Given the description of an element on the screen output the (x, y) to click on. 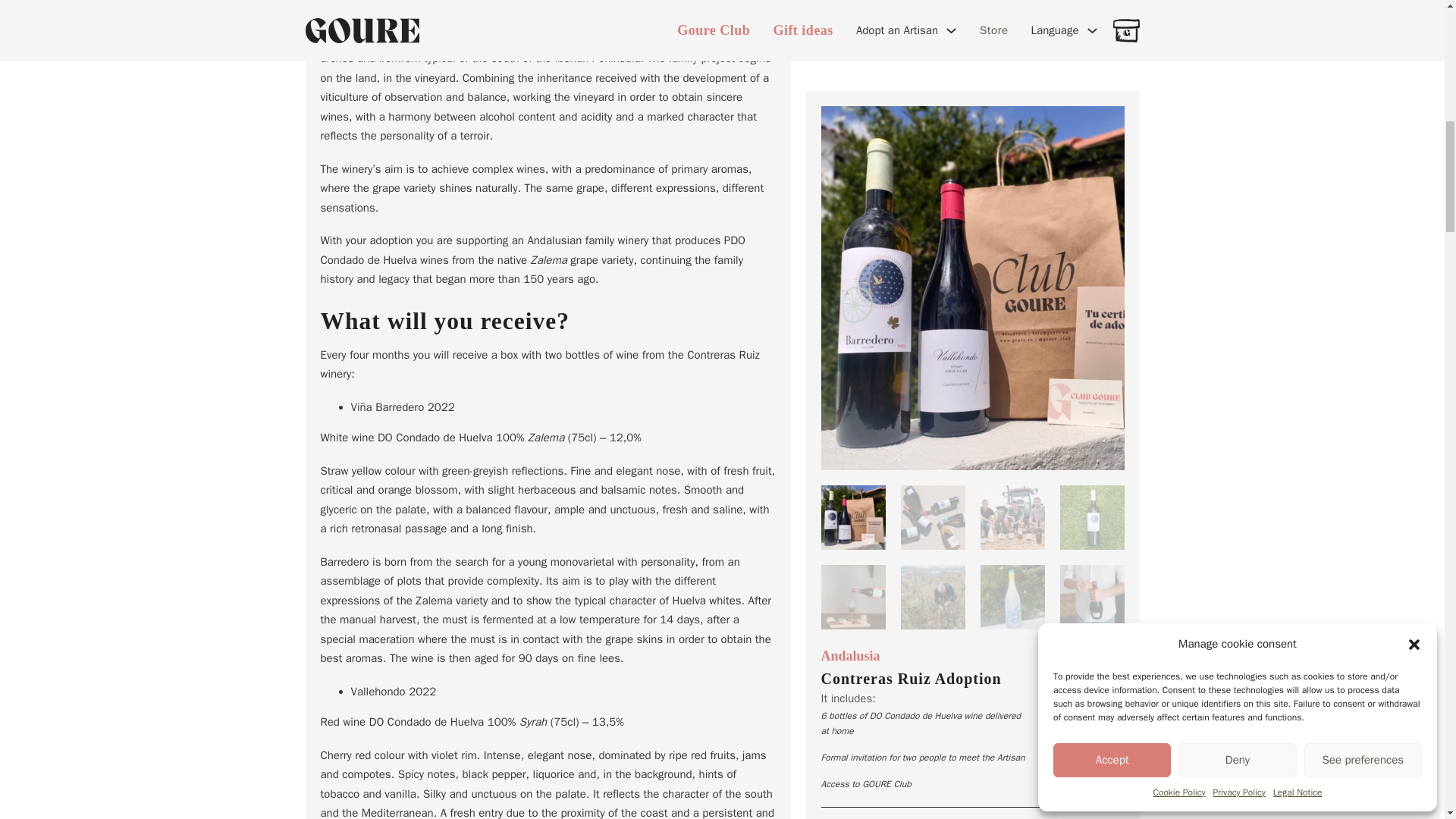
1 (971, 520)
CONTRERAS RUIZ (1003, 75)
